Given the description of an element on the screen output the (x, y) to click on. 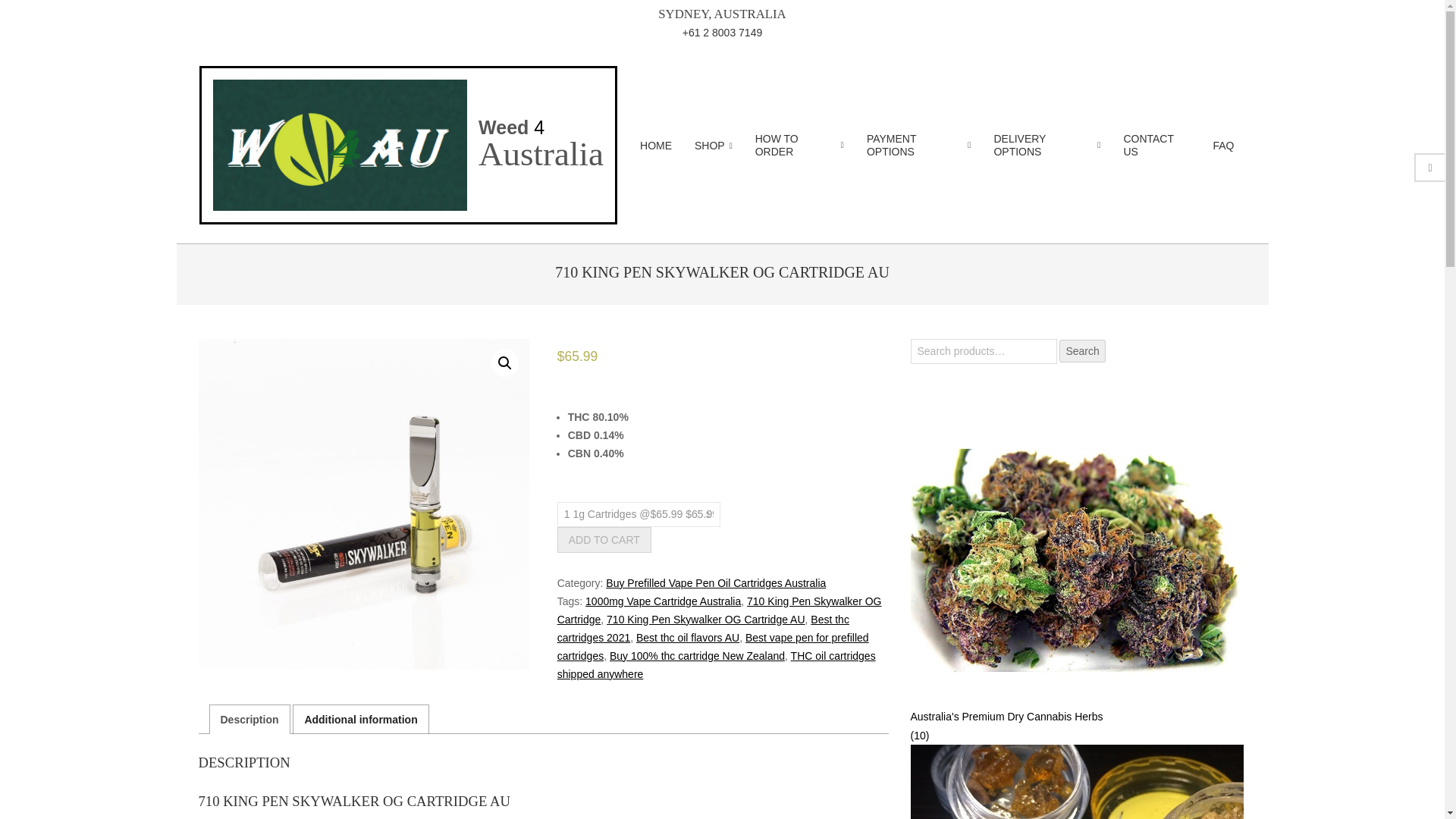
HOME (655, 145)
SHOP (713, 145)
THC oil cartridges shipped anywhere (716, 665)
Additional information (360, 719)
Buy Prefilled Vape Pen Oil Cartridges Australia (715, 582)
Best thc cartridges 2021 (702, 628)
710 King Pen Skywalker OG Cartridge (719, 610)
710 King Pen Skywalker OG Cartridge AU (363, 504)
710 King Pen Skywalker OG Cartridge AU (706, 619)
